Given the description of an element on the screen output the (x, y) to click on. 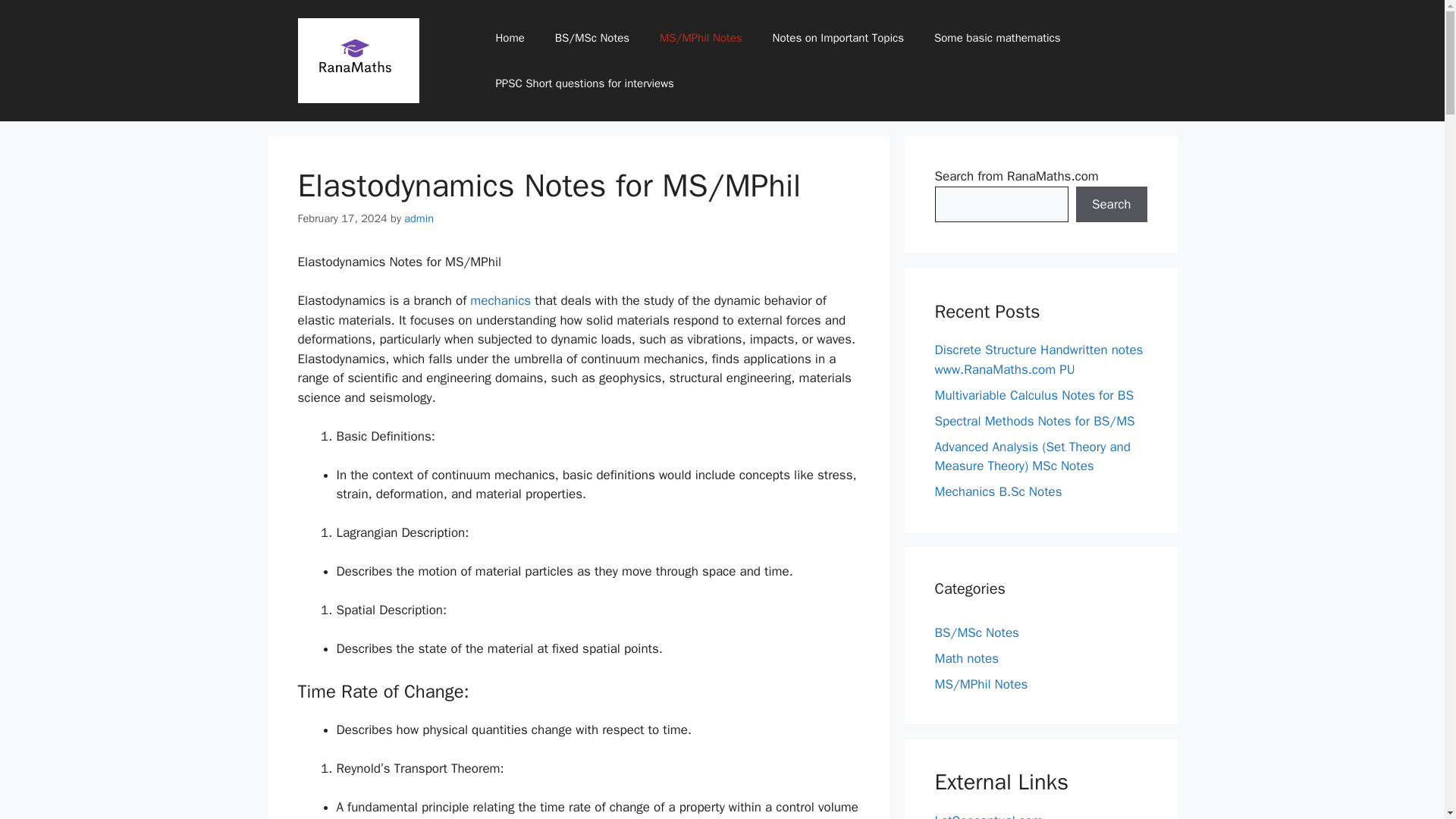
Home (456, 60)
PPSC Short questions for interviews (584, 83)
admin (418, 218)
Search (1111, 204)
Some basic mathematics (996, 37)
Multivariable Calculus Notes for BS (1033, 394)
mechanics (500, 300)
Mechanics B.Sc Notes (997, 491)
Notes on Important Topics (837, 37)
Math notes (966, 658)
